Given the description of an element on the screen output the (x, y) to click on. 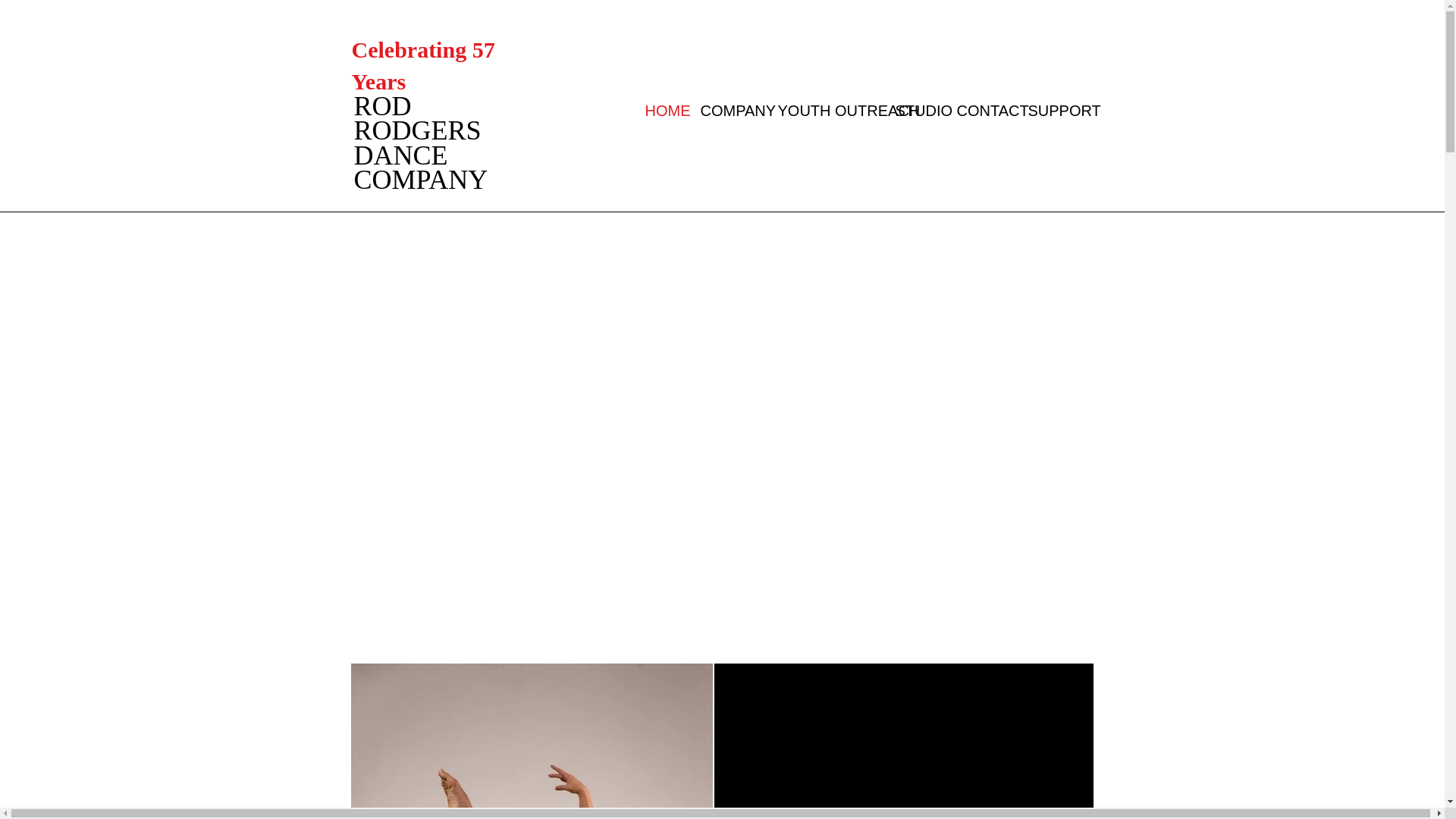
SUPPORT (1051, 110)
HOME (660, 110)
CONTACT (980, 110)
